Given the description of an element on the screen output the (x, y) to click on. 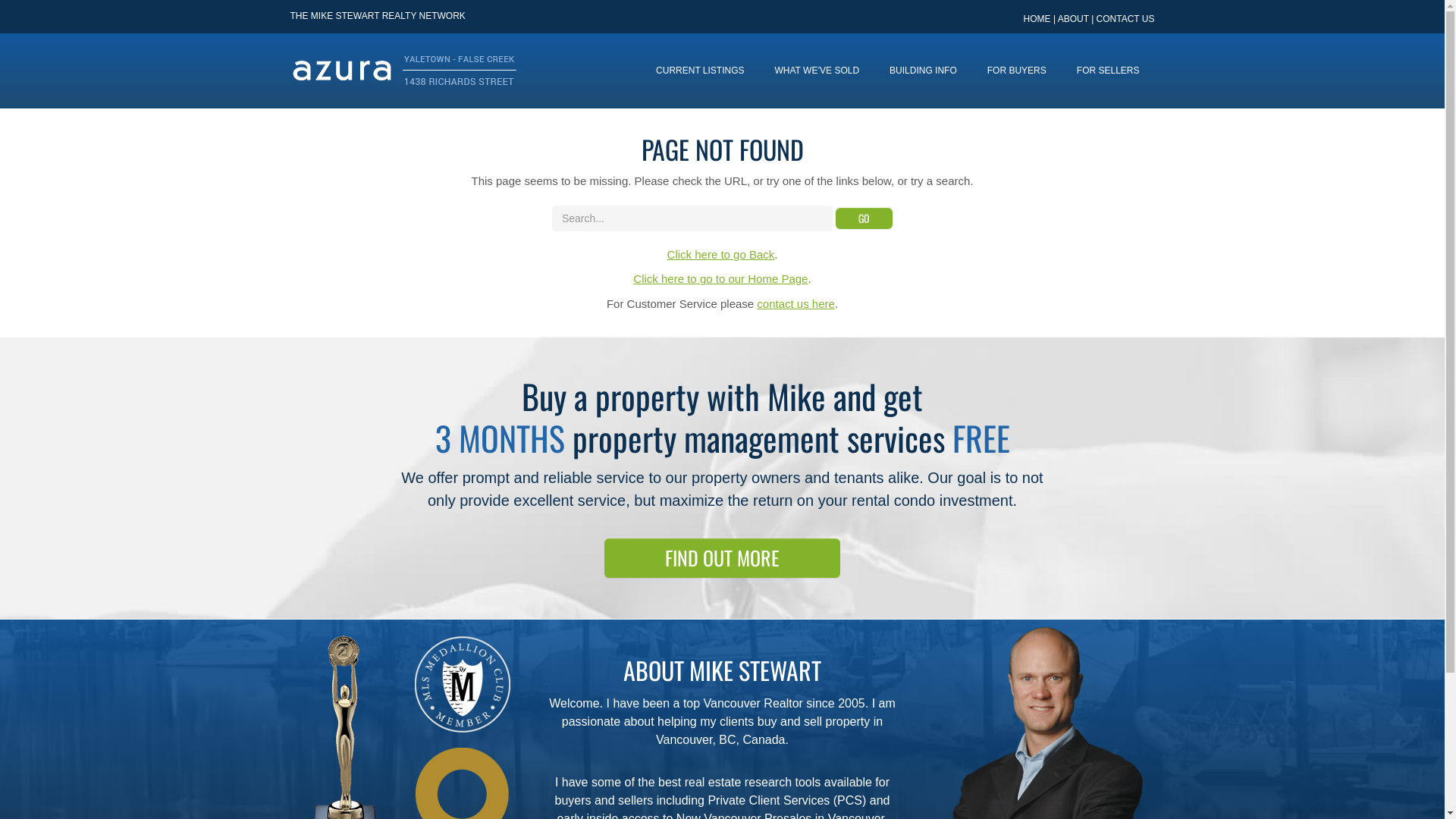
GO Element type: text (863, 218)
FIND OUT MORE Element type: text (722, 558)
Click here to go Back Element type: text (721, 253)
ABOUT MIKE STEWART Element type: text (722, 669)
ABOUT Element type: text (1072, 18)
FOR BUYERS Element type: text (1016, 71)
THE MIKE STEWART REALTY NETWORK Element type: text (376, 16)
contact us here Element type: text (795, 303)
FOR SELLERS Element type: text (1107, 71)
CONTACT US Element type: text (1125, 18)
HOME Element type: text (1037, 18)
Click here to go to our Home Page Element type: text (720, 278)
BUILDING INFO Element type: text (923, 71)
CURRENT LISTINGS Element type: text (699, 71)
